Given the description of an element on the screen output the (x, y) to click on. 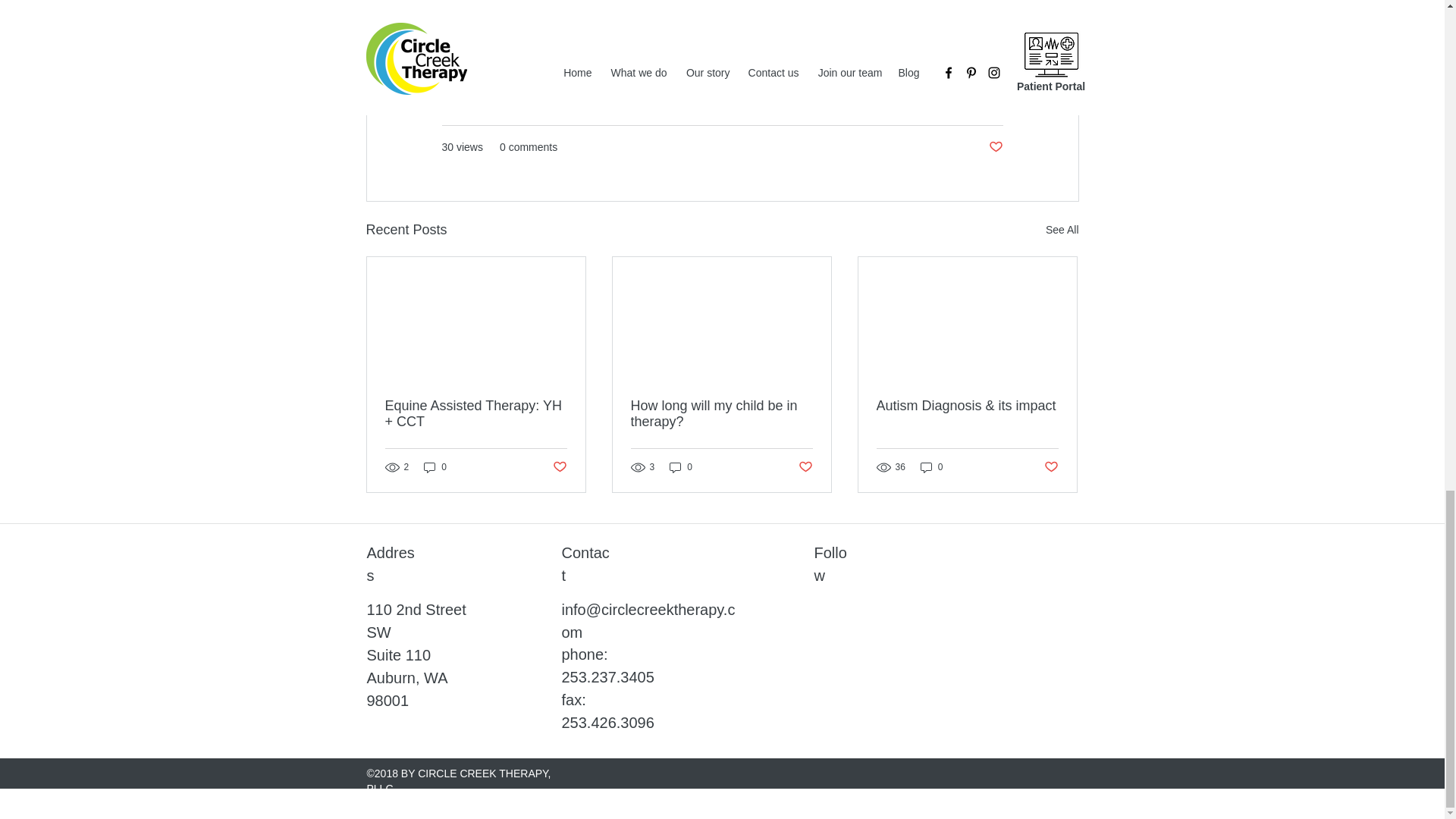
Post not marked as liked (995, 147)
See All (1061, 229)
Our Clinic (979, 102)
